Given the description of an element on the screen output the (x, y) to click on. 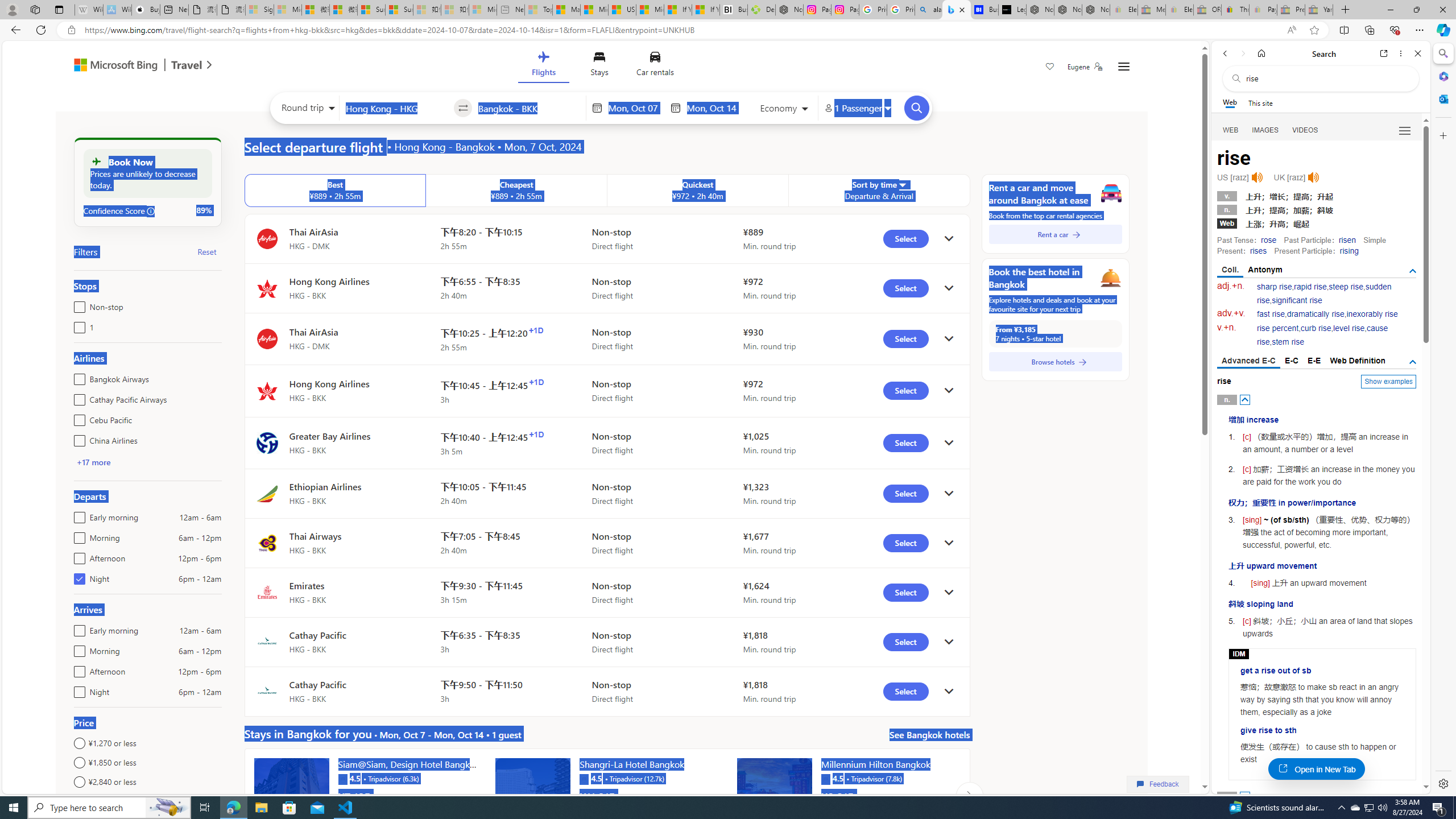
Sorter (901, 184)
Eugene (1084, 66)
risen (1347, 239)
